Given the description of an element on the screen output the (x, y) to click on. 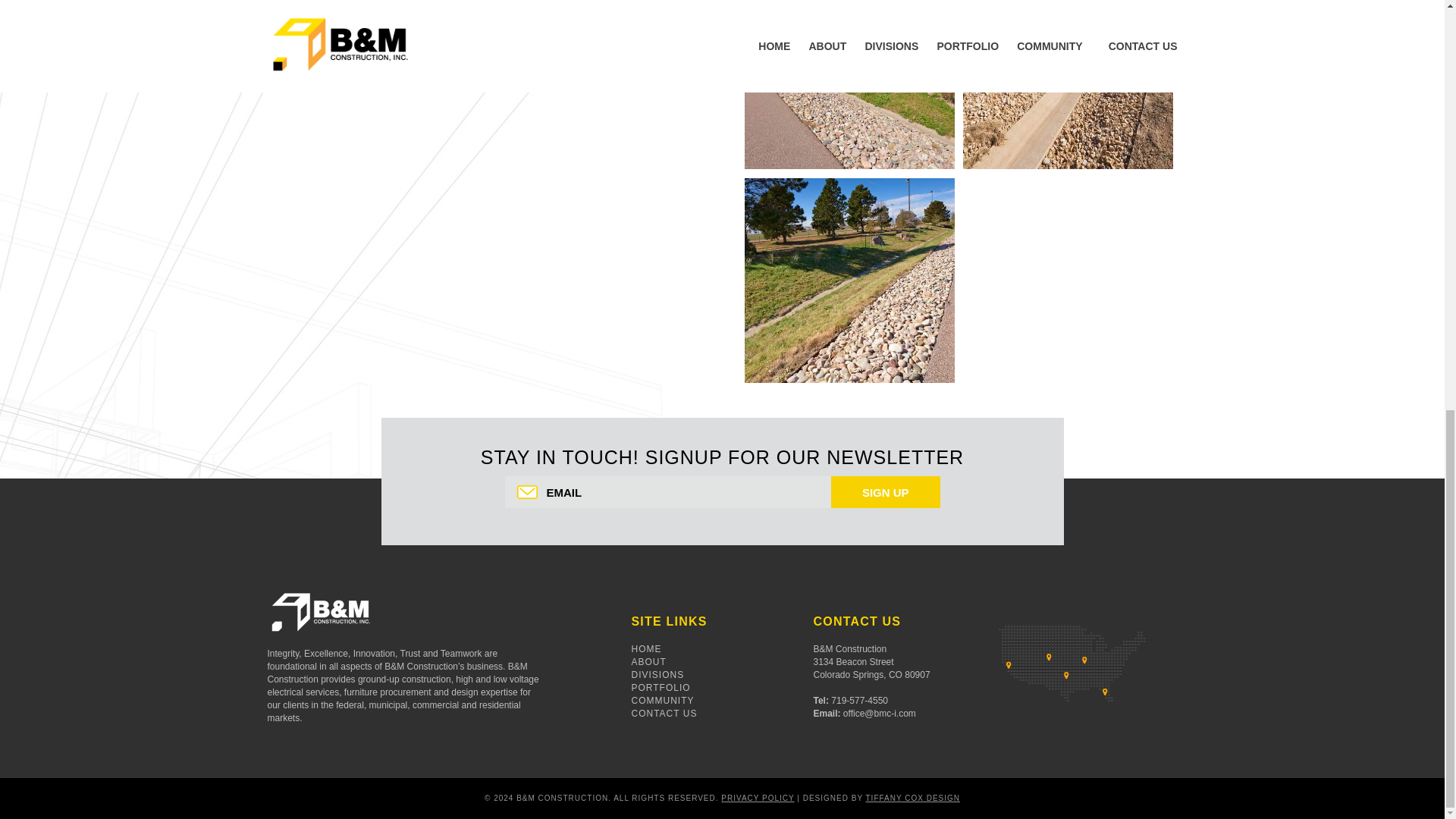
CONTACT US (663, 713)
Sign Up (885, 491)
HOME (645, 648)
PRIVACY POLICY (756, 797)
Sign Up (885, 491)
PORTFOLIO (660, 687)
DIVISIONS (657, 674)
COMMUNITY (662, 700)
ABOUT (647, 661)
TIFFANY COX DESIGN (913, 797)
